Given the description of an element on the screen output the (x, y) to click on. 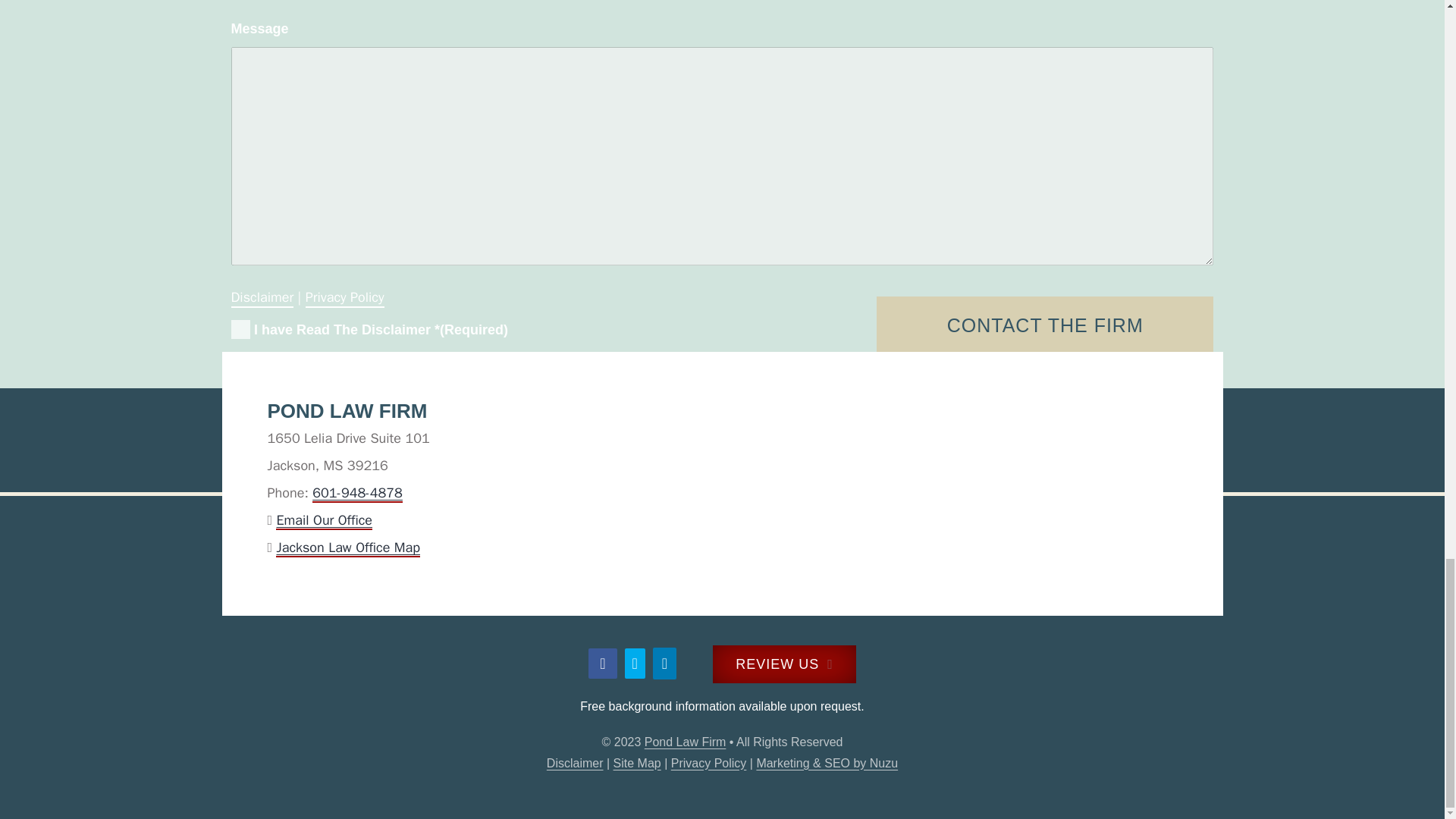
601-948-4878 (358, 492)
Disclaimer (262, 295)
CONTACT THE FIRM (1045, 325)
Privacy Policy (344, 295)
CONTACT THE FIRM (1045, 325)
Email Our Office (324, 519)
1 (239, 329)
